Given the description of an element on the screen output the (x, y) to click on. 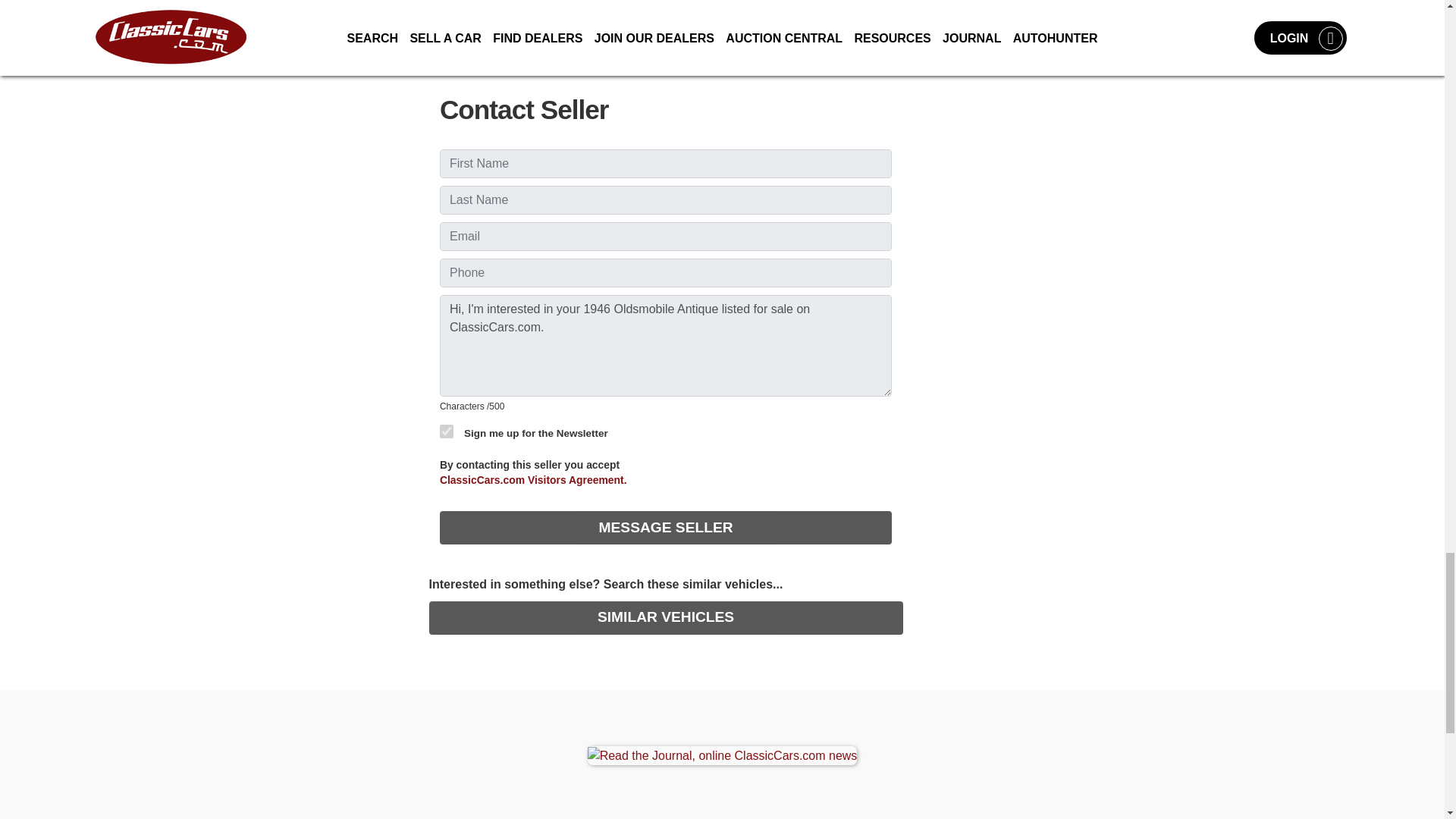
Message Seller (665, 527)
The Journal, ClassicCars.com online magazine (722, 755)
Show seller contact number (665, 42)
on (445, 431)
